Given the description of an element on the screen output the (x, y) to click on. 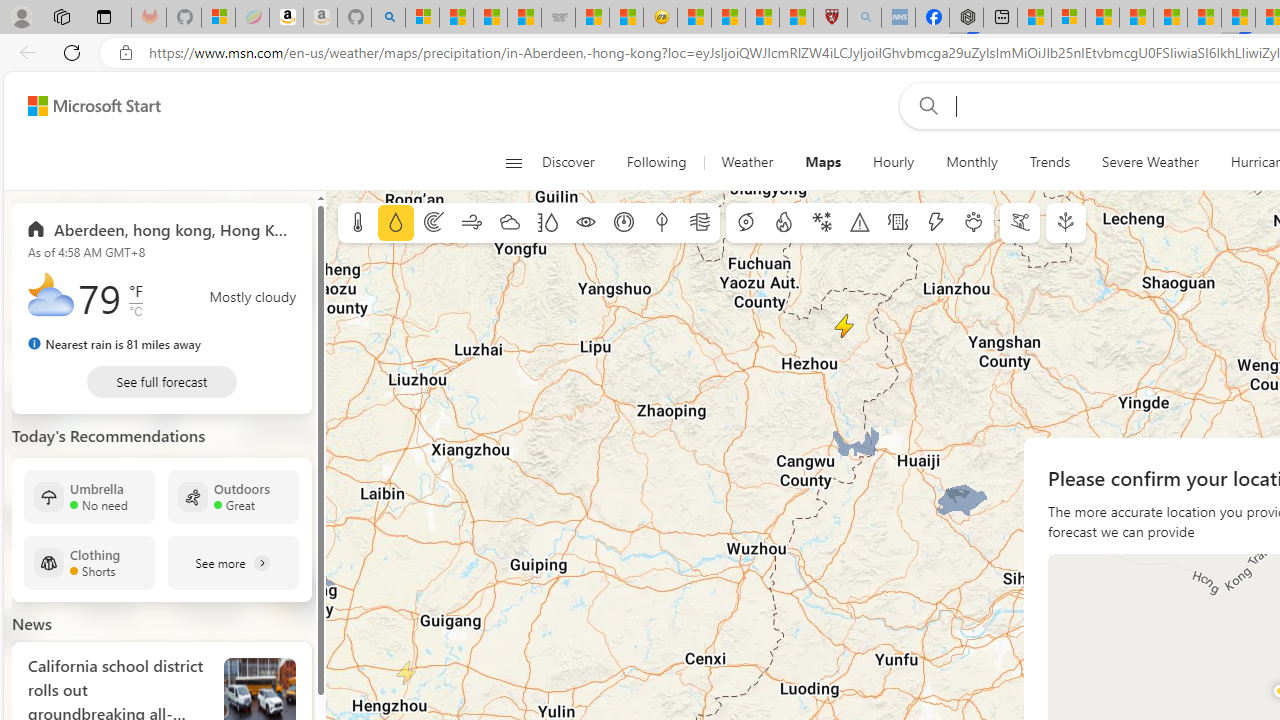
Trends (1050, 162)
Clouds (509, 223)
New tab (1000, 17)
Humidity (547, 223)
Recipes - MSN (694, 17)
Winter weather (821, 223)
Maps (823, 162)
News (31, 624)
Discover (568, 162)
E-tree (1066, 223)
MSNBC - MSN (489, 17)
